Given the description of an element on the screen output the (x, y) to click on. 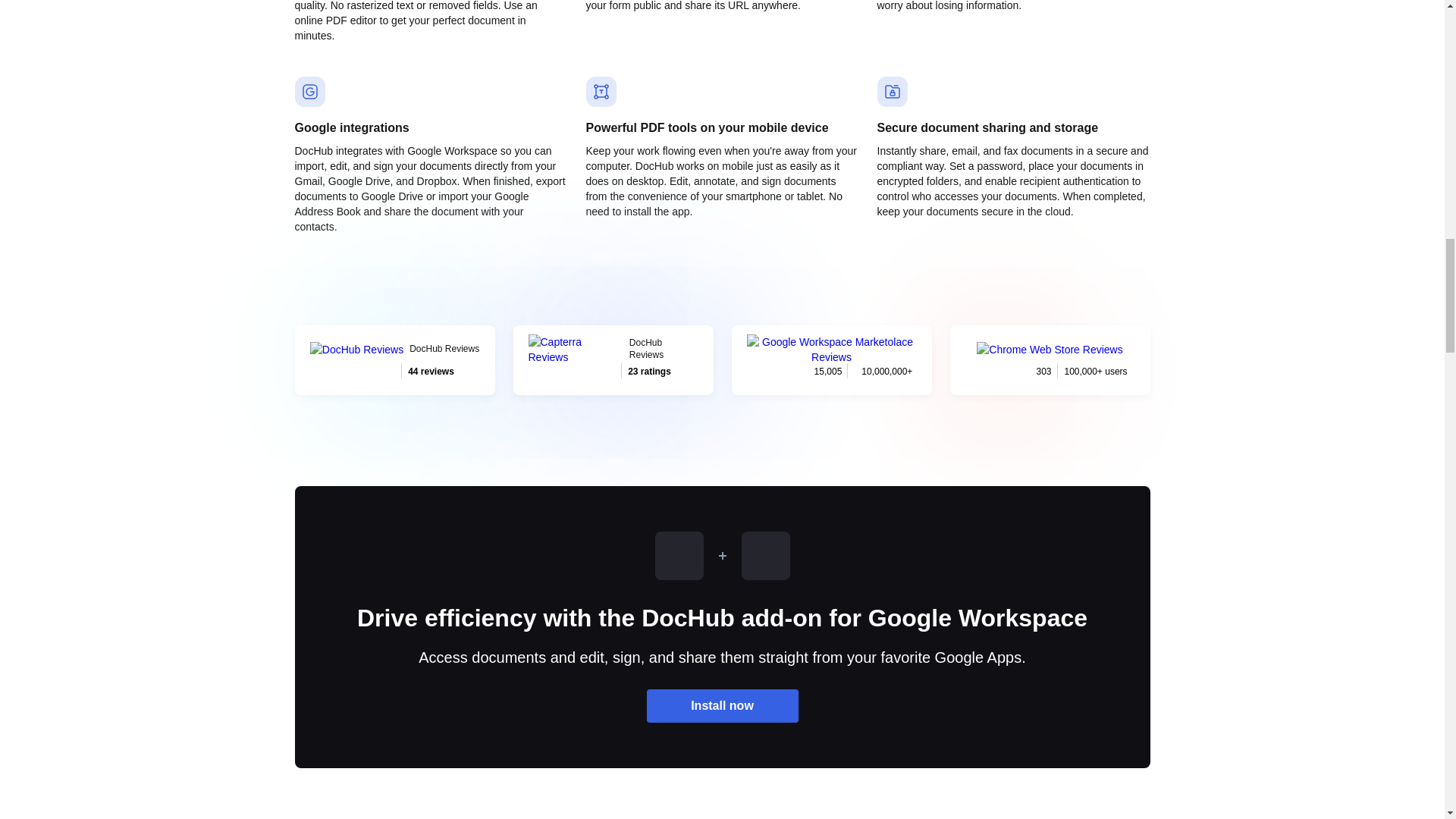
Install now (612, 359)
